Given the description of an element on the screen output the (x, y) to click on. 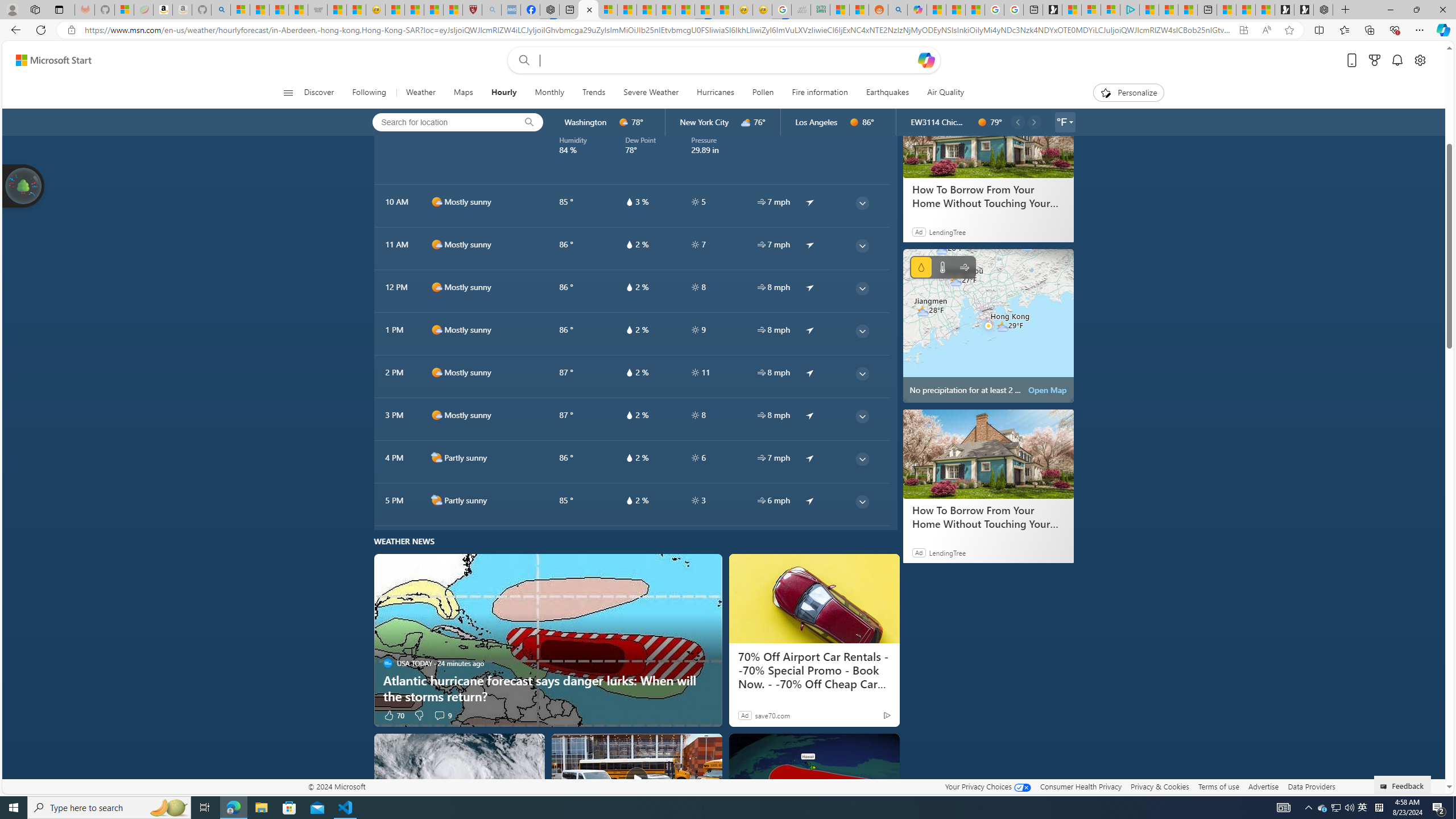
Earthquakes (887, 92)
Personalize (1128, 92)
Robert H. Shmerling, MD - Harvard Health (471, 9)
Trends (593, 92)
Utah sues federal government - Search (897, 9)
Terms of use (1218, 786)
Class: feedback_link_icon-DS-EntryPoint1-1 (1384, 786)
